Given the description of an element on the screen output the (x, y) to click on. 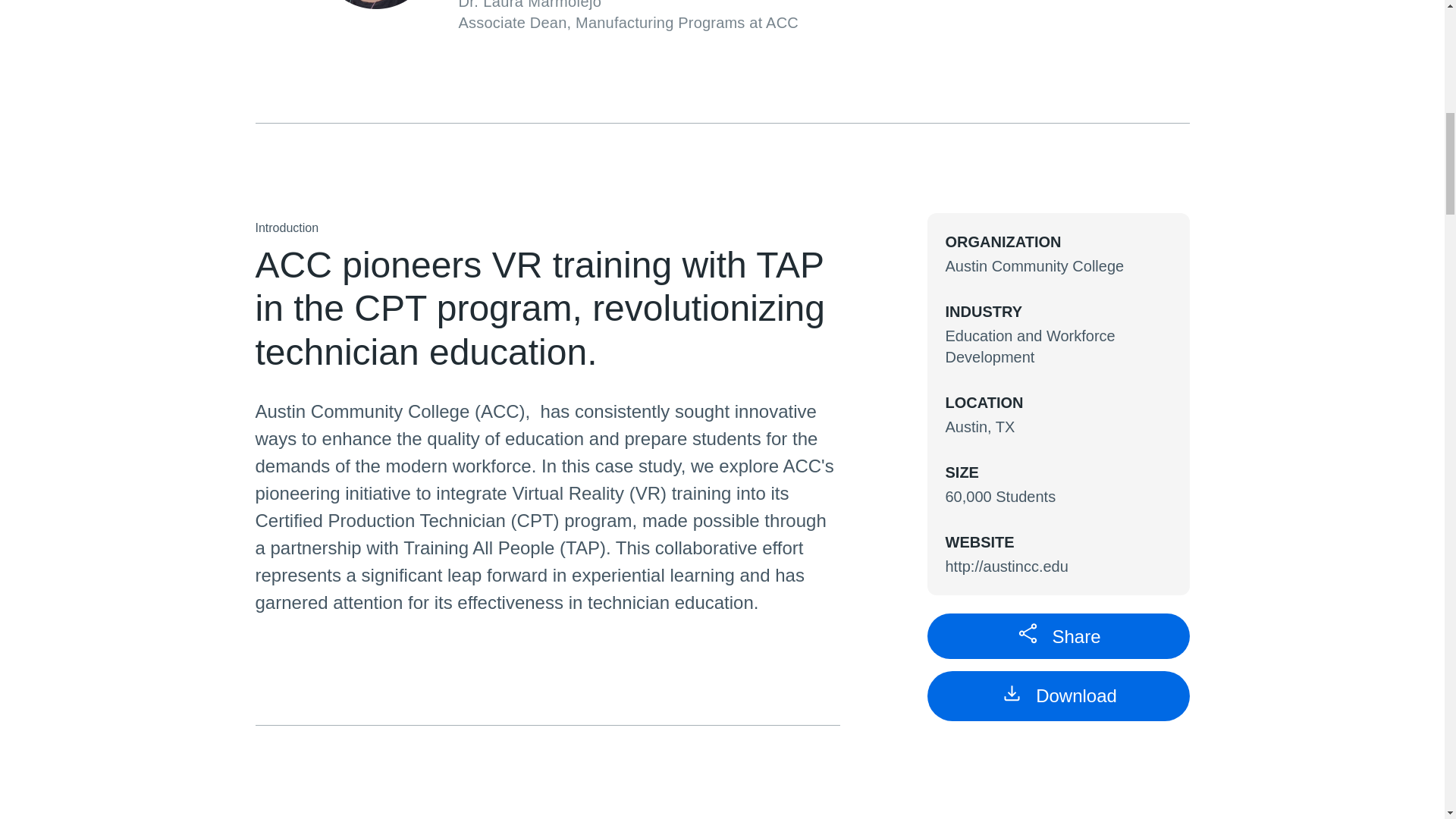
Download (1057, 695)
Share (1057, 636)
